Given the description of an element on the screen output the (x, y) to click on. 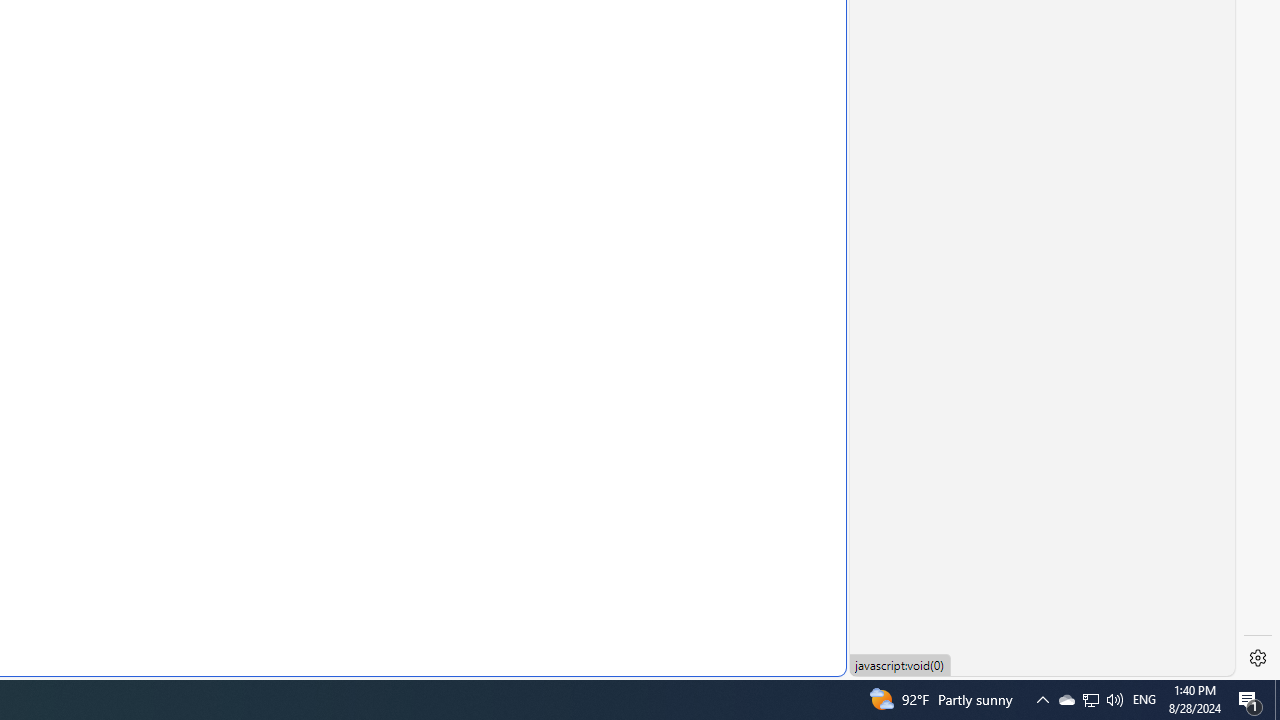
Settings (1258, 658)
